Given the description of an element on the screen output the (x, y) to click on. 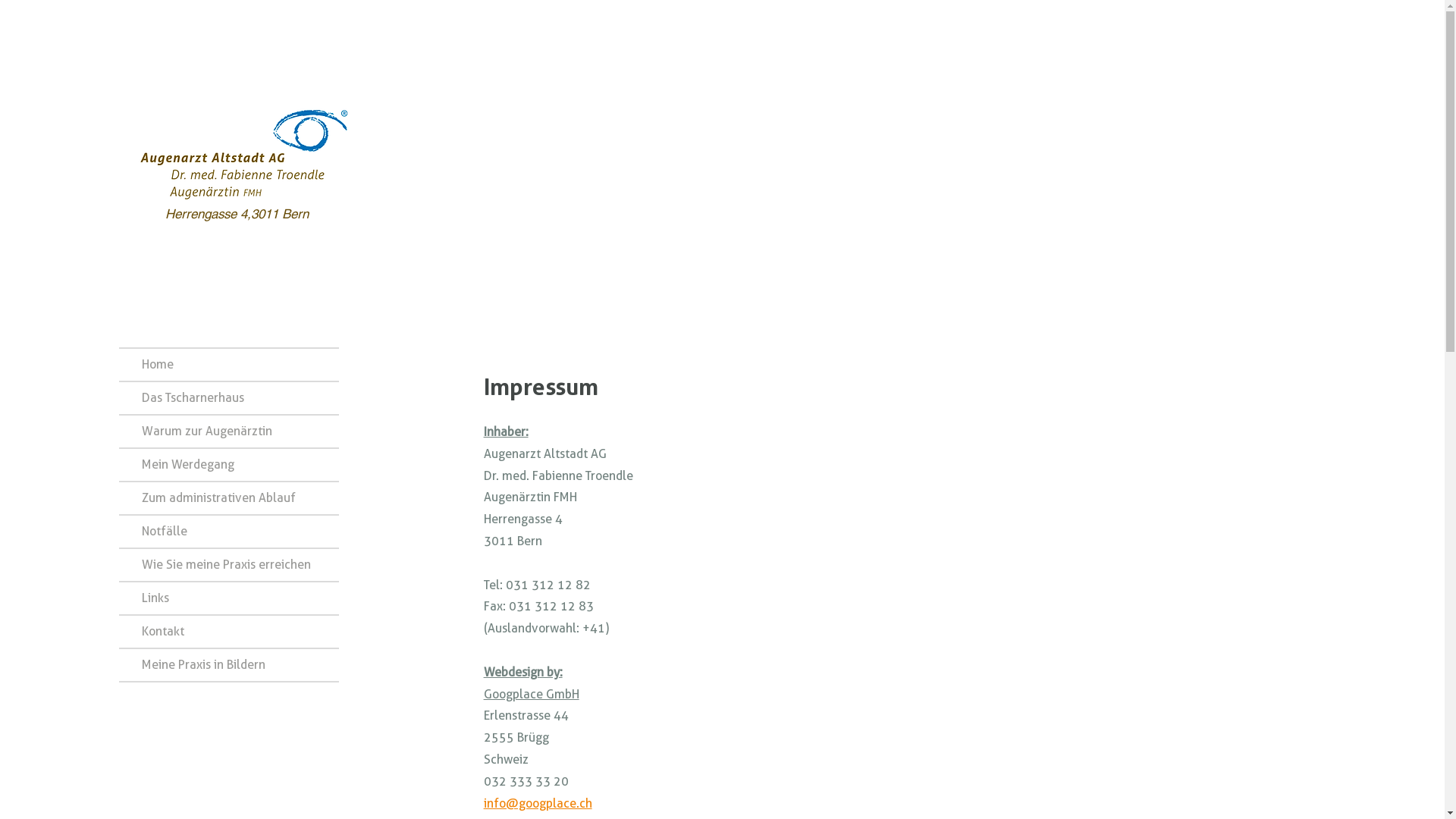
Wie Sie meine Praxis erreichen Element type: text (228, 564)
Googplace GmbH Element type: text (531, 694)
info@googplace.ch Element type: text (537, 803)
Meine Praxis in Bildern Element type: text (228, 664)
Das Tscharnerhaus Element type: text (228, 398)
Home Element type: text (228, 364)
Links Element type: text (228, 598)
Kontakt Element type: text (228, 631)
Mein Werdegang Element type: text (228, 464)
Zum administrativen Ablauf Element type: text (228, 498)
